Given the description of an element on the screen output the (x, y) to click on. 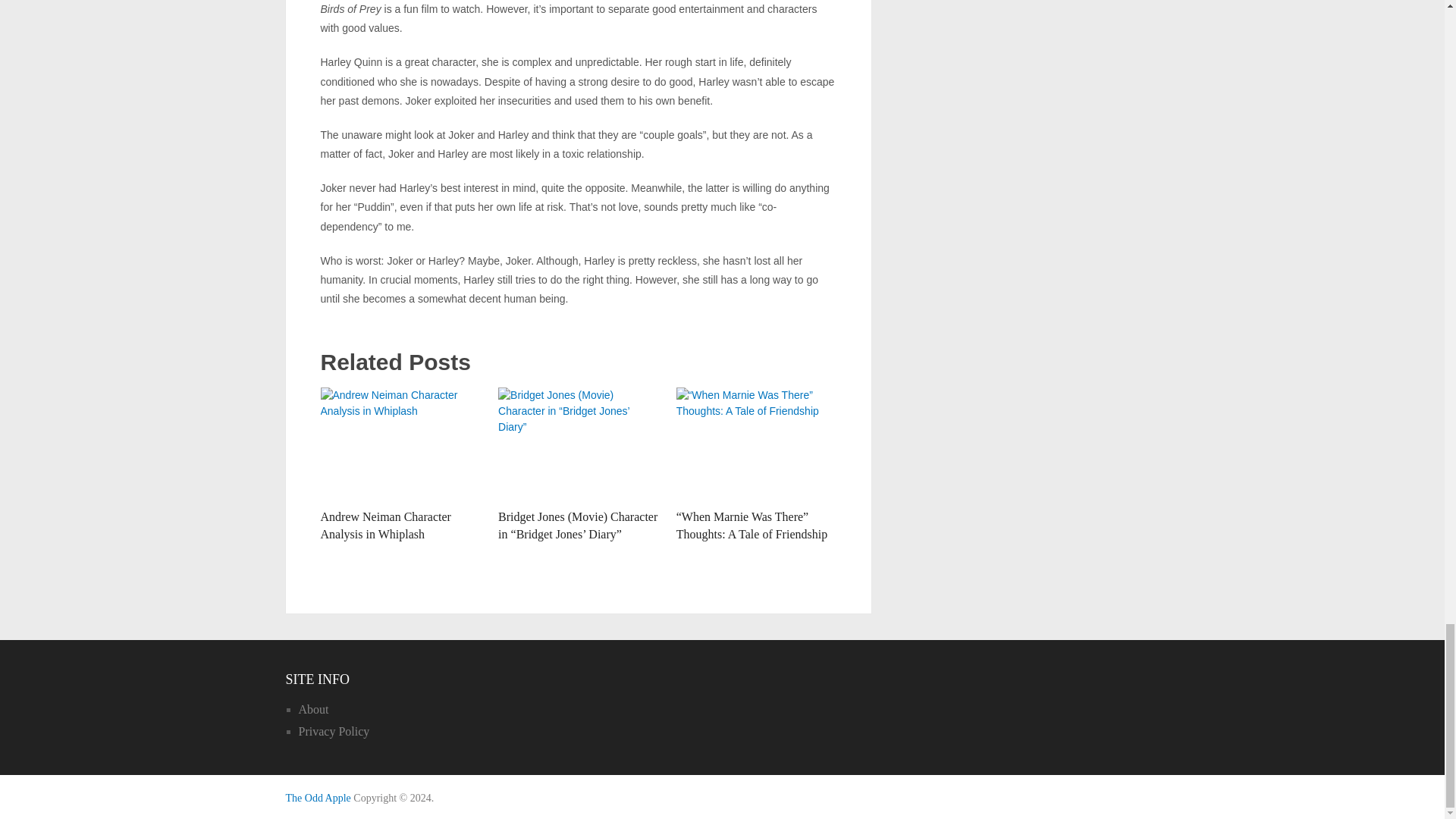
The Odd Apple (317, 797)
About (313, 708)
Andrew Neiman Character Analysis in Whiplash (384, 524)
Andrew Neiman Character Analysis in Whiplash (400, 444)
Andrew Neiman Character Analysis in Whiplash (384, 524)
Privacy Policy (333, 730)
